Given the description of an element on the screen output the (x, y) to click on. 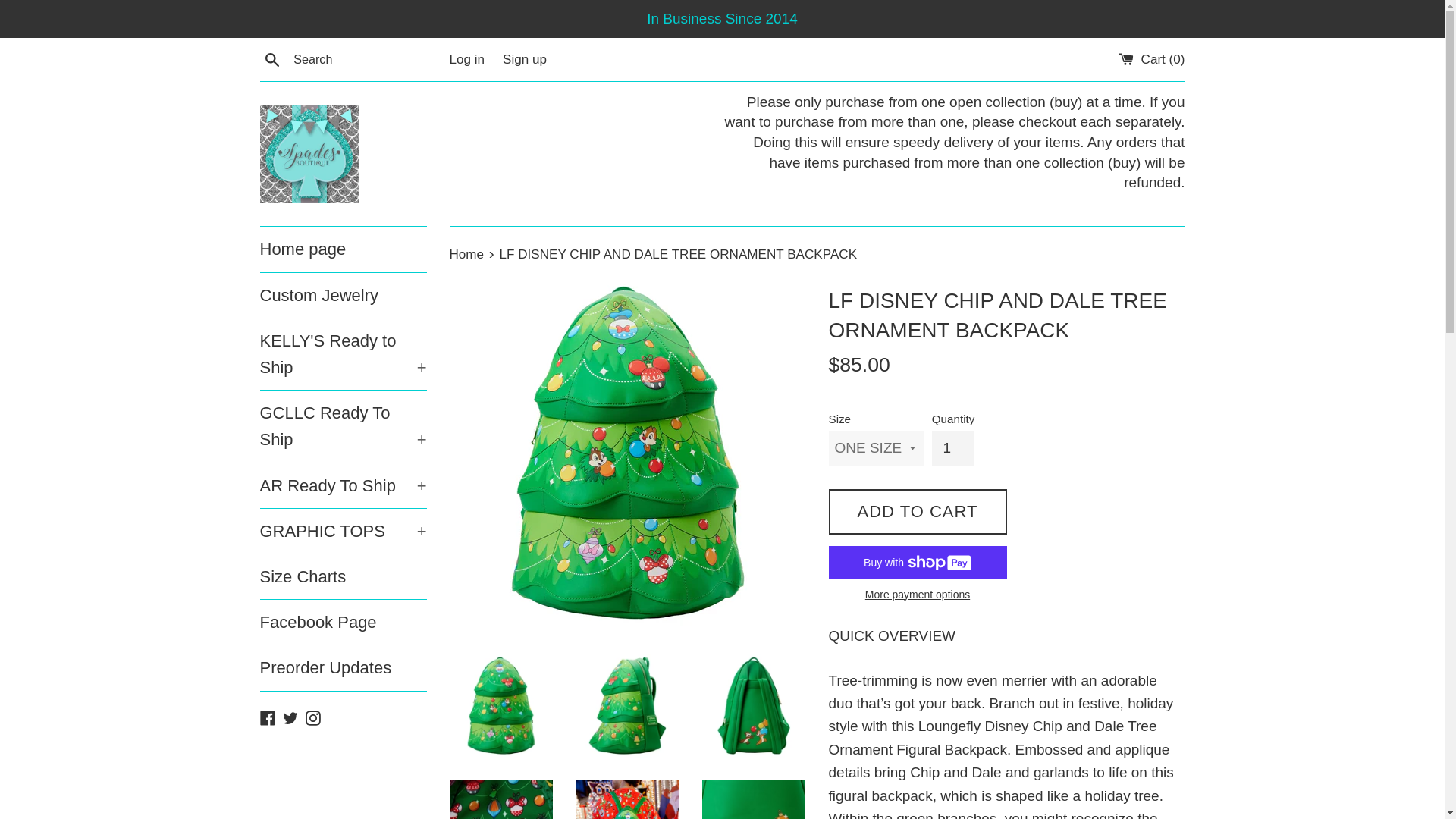
Log in (466, 59)
Sign up (524, 59)
Spade's Boutique on Facebook (267, 716)
Spade's Boutique on Instagram (312, 716)
Spade's Boutique on Twitter (290, 716)
1 (952, 448)
Custom Jewelry (342, 294)
Home page (342, 248)
Back to the frontpage (467, 254)
Search (271, 58)
